Given the description of an element on the screen output the (x, y) to click on. 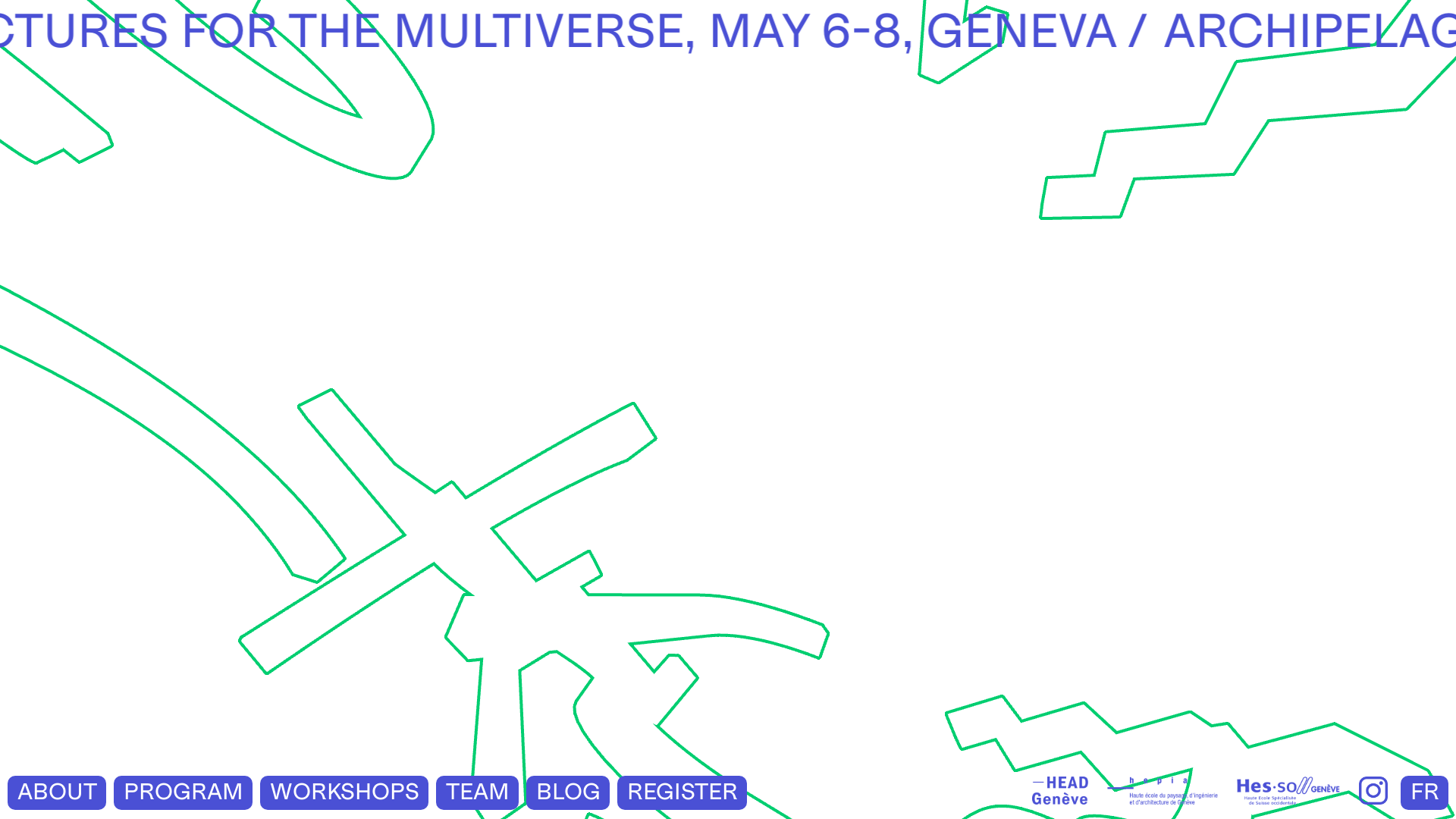
REGISTER Element type: text (681, 792)
ABOUT Element type: text (56, 792)
PROGRAM Element type: text (182, 792)
WORKSHOPS Element type: text (344, 792)
FR Element type: text (1424, 792)
TEAM Element type: text (477, 792)
BLOG Element type: text (567, 792)
